Given the description of an element on the screen output the (x, y) to click on. 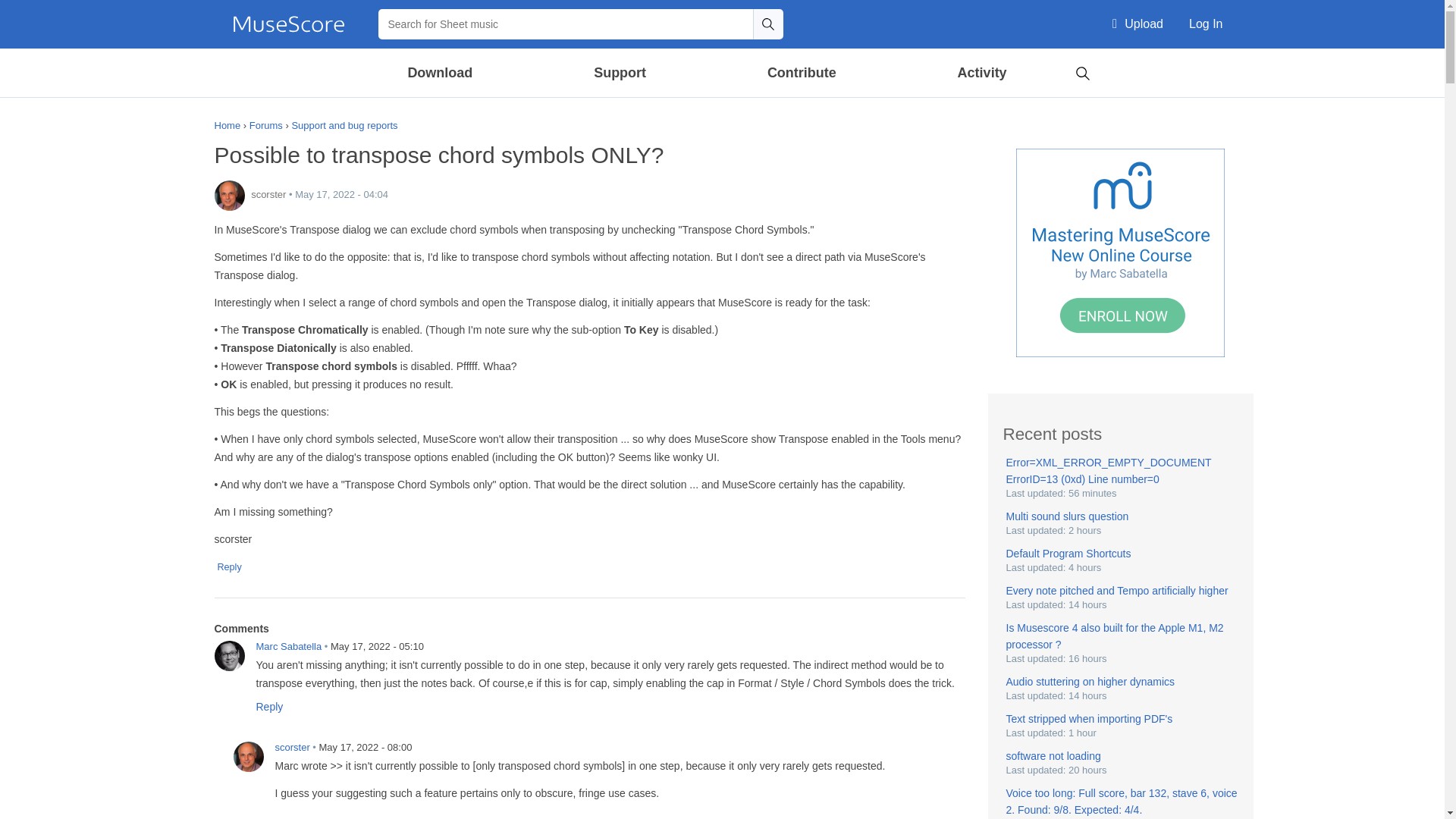
Download (440, 72)
Log In (1205, 24)
scorster (229, 195)
Home (287, 23)
Search (1082, 71)
Support (619, 72)
Marc Sabatella (229, 655)
Upload (1137, 24)
scorster (247, 757)
Contribute (801, 72)
Search (767, 24)
MuseScore (287, 23)
Activity (981, 72)
Search (767, 24)
